Given the description of an element on the screen output the (x, y) to click on. 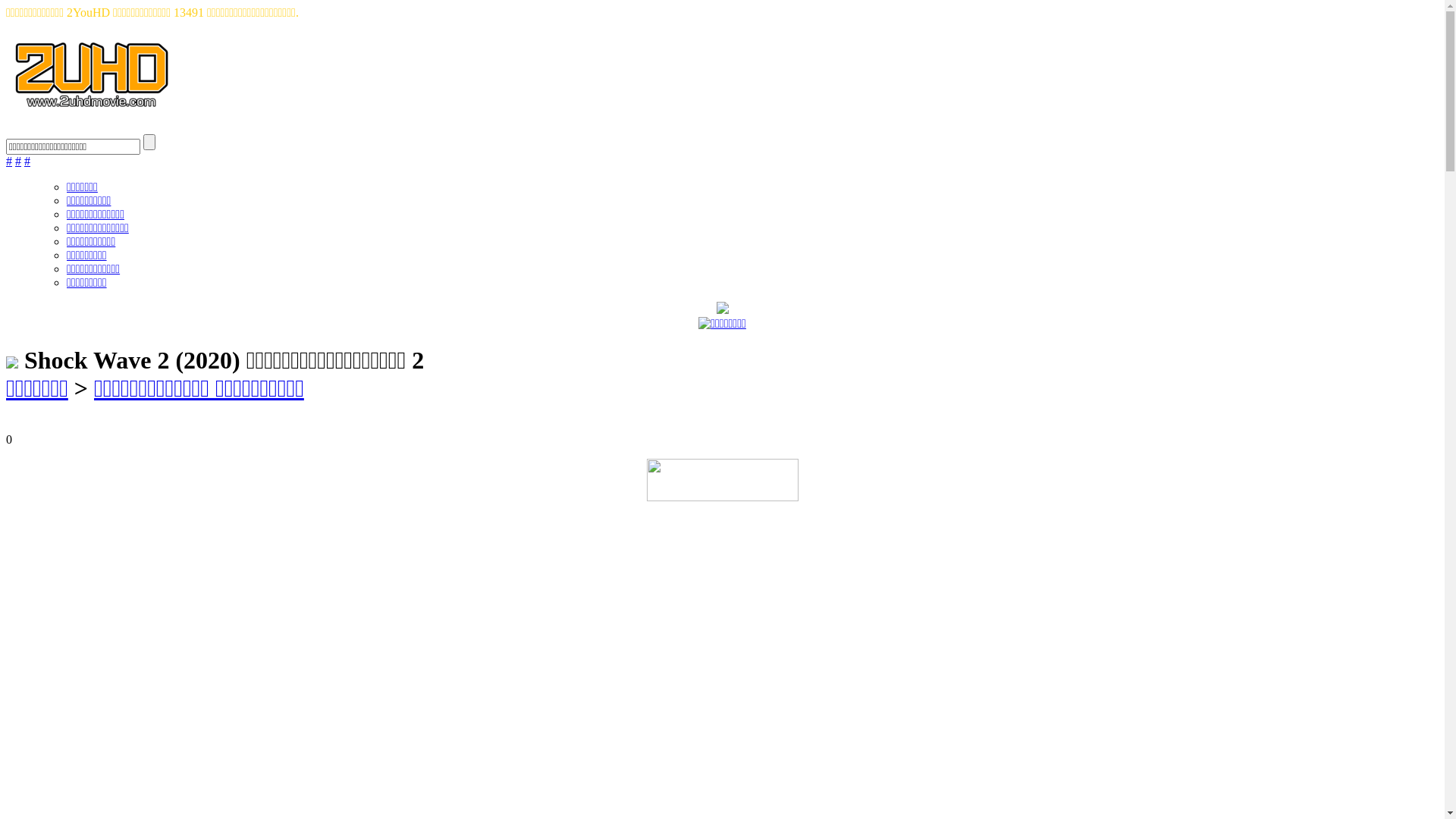
# Element type: text (27, 160)
# Element type: text (9, 160)
# Element type: text (18, 160)
